Given the description of an element on the screen output the (x, y) to click on. 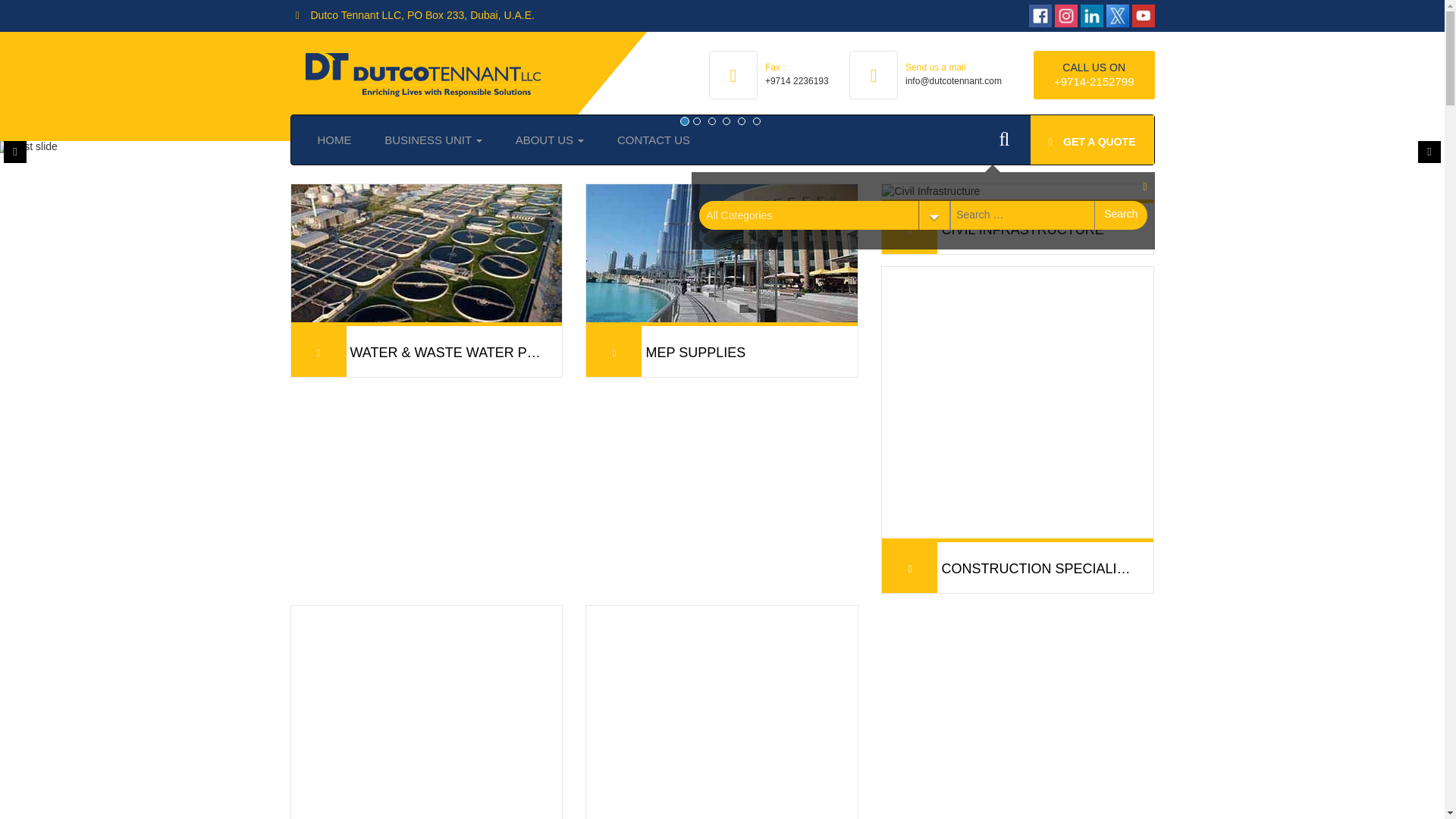
Search (1120, 215)
YouTube (1142, 15)
Twitter (1117, 15)
BUSINESS UNIT (433, 140)
HOME (333, 140)
Instagram (1065, 15)
Facebook (1040, 15)
LinkedIn (1091, 15)
